Given the description of an element on the screen output the (x, y) to click on. 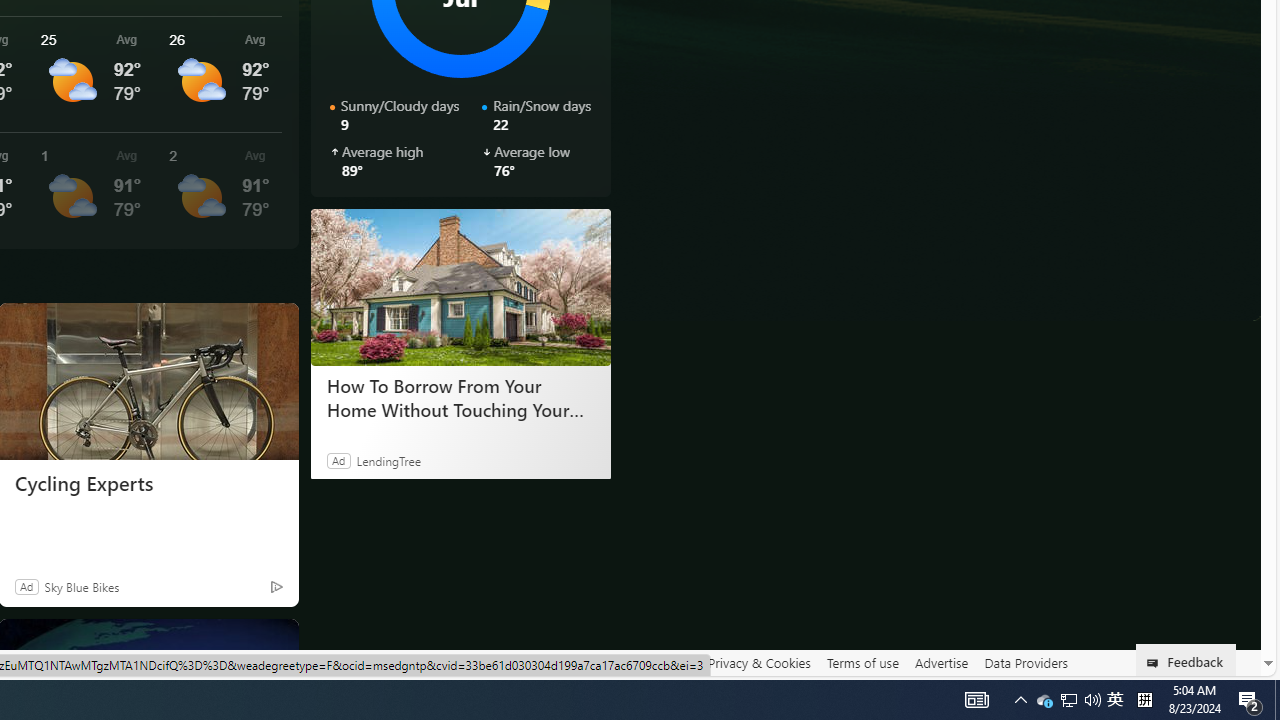
How To Borrow From Your Home Without Touching Your Mortgage (459, 286)
LendingTree (388, 460)
Terms of use (861, 662)
Sky Blue Bikes (81, 586)
Class: feedback_link_icon-DS-EntryPoint1-1 (1156, 663)
Data Providers (1025, 662)
Consumer Health Privacy (619, 663)
Terms of use (861, 663)
Ad Choice (276, 586)
Your Privacy Choices (456, 663)
